Given the description of an element on the screen output the (x, y) to click on. 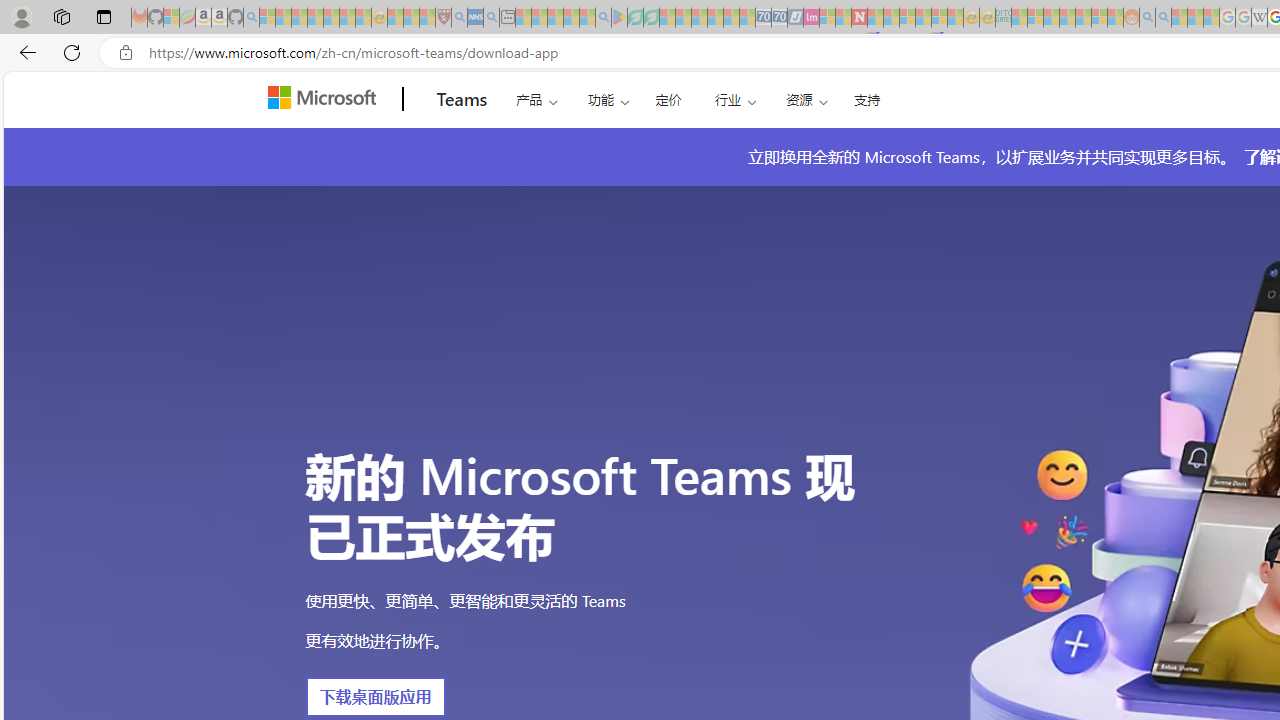
Teams (461, 99)
Cheap Hotels - Save70.com - Sleeping (779, 17)
utah sues federal government - Search - Sleeping (491, 17)
14 Common Myths Debunked By Scientific Facts - Sleeping (891, 17)
